Given the description of an element on the screen output the (x, y) to click on. 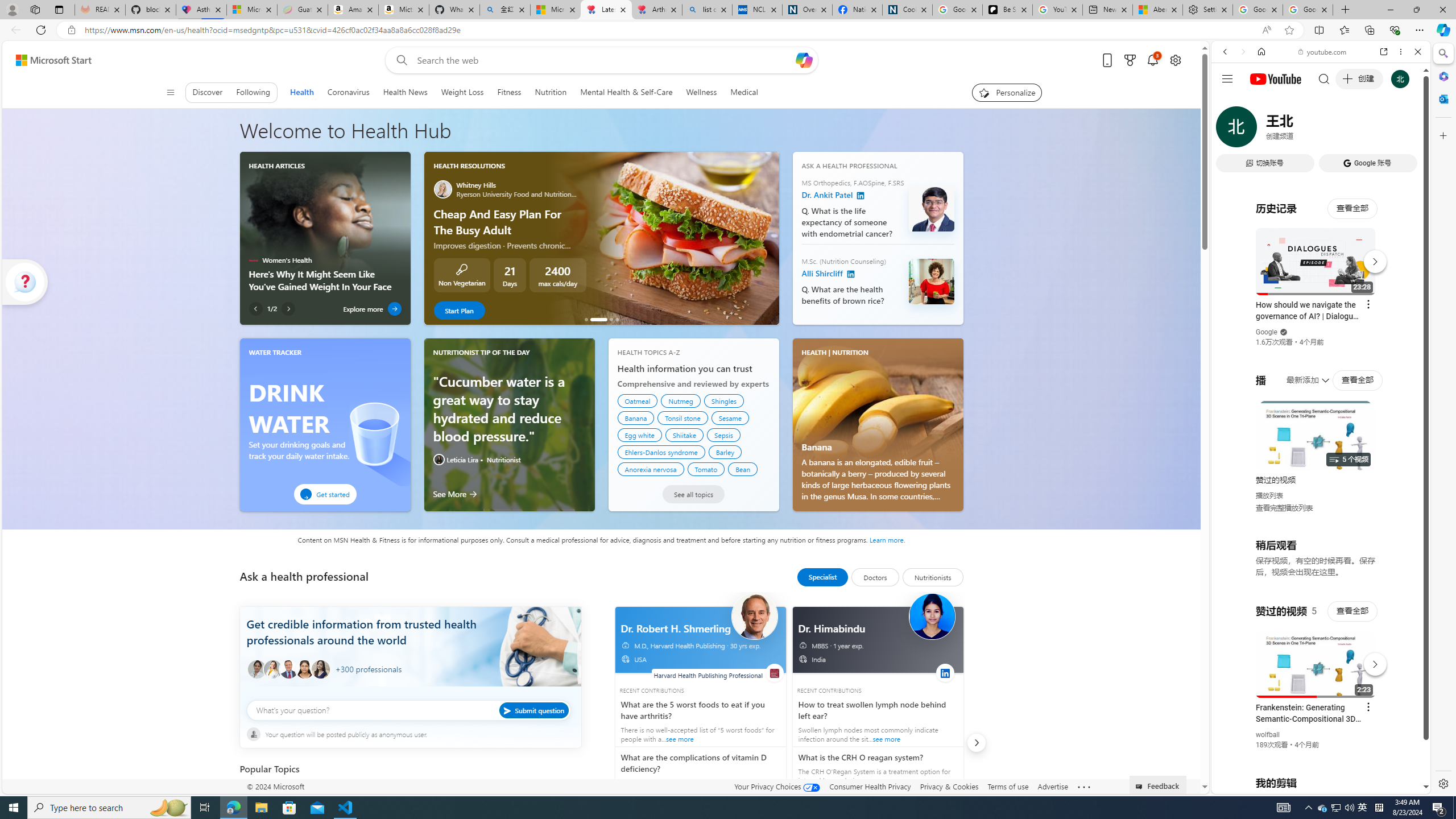
#you (1320, 253)
Notifications (1152, 60)
7 Day Belly Fat Loss Plan (616, 319)
Web scope (1230, 102)
website (774, 672)
YouTube - YouTube (1315, 560)
Class: oneFooter_seeMore-DS-EntryPoint1-1 (1083, 786)
Google (1320, 281)
Consumer Health Privacy (870, 785)
Class: svgRectangle (409, 716)
